Given the description of an element on the screen output the (x, y) to click on. 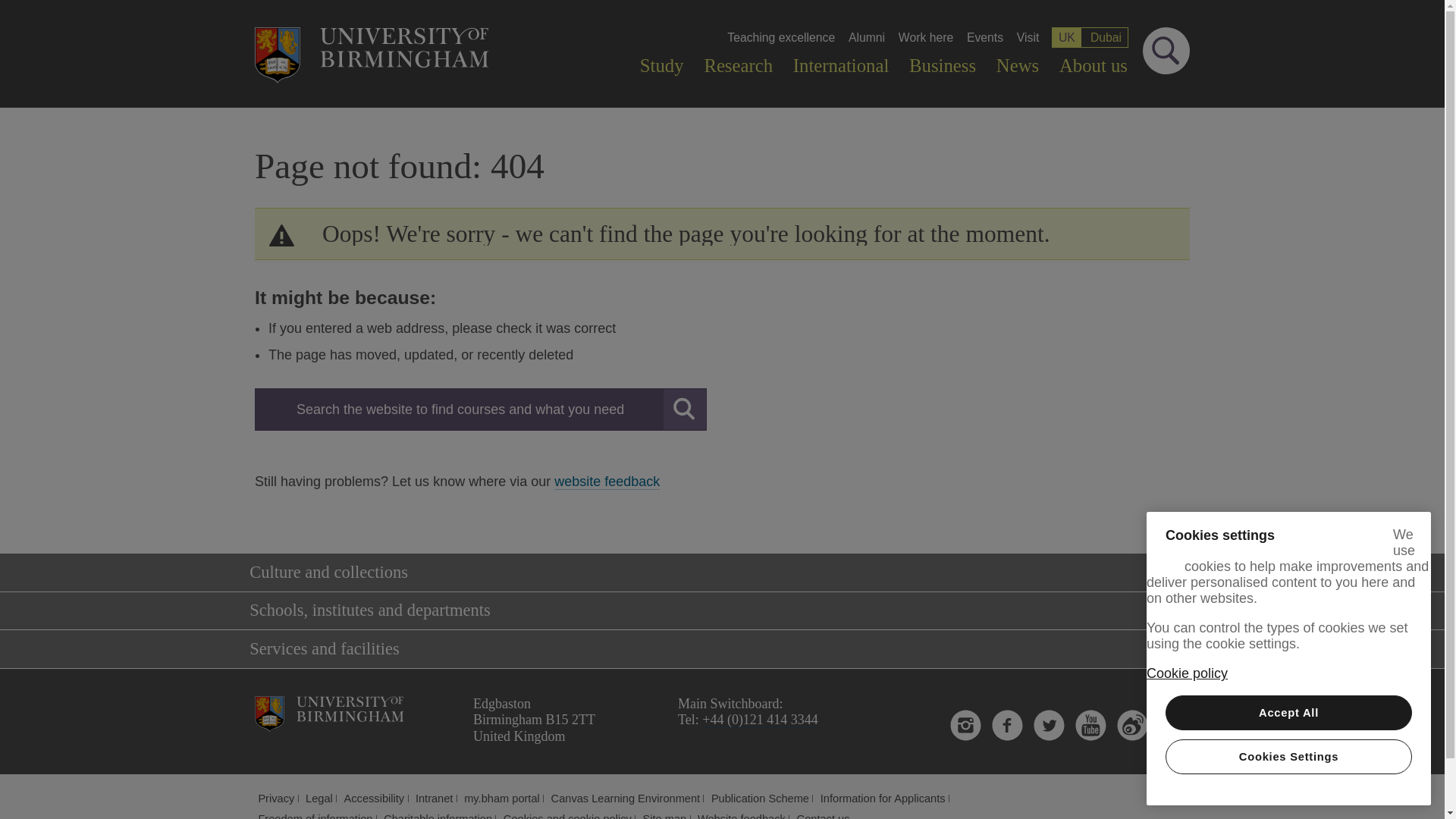
News (1017, 66)
Business (942, 66)
Culture and collections (716, 572)
website feedback (606, 481)
About us (1093, 66)
Search (480, 409)
Search (1165, 50)
Information for Applicants (882, 798)
Legal (319, 798)
Events (985, 37)
